Given the description of an element on the screen output the (x, y) to click on. 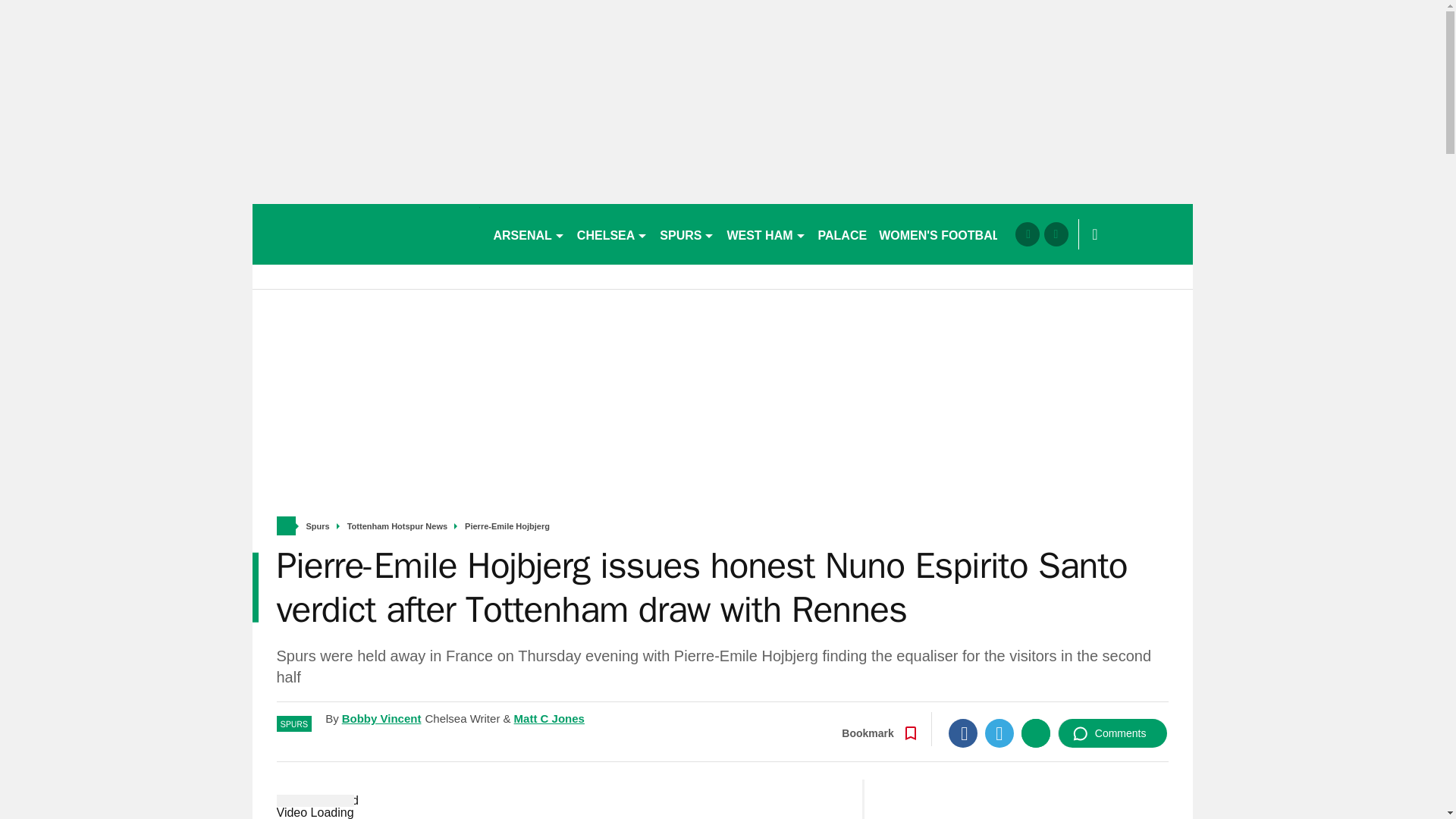
Comments (1112, 733)
ARSENAL (528, 233)
PALACE (842, 233)
SPURS (686, 233)
Twitter (999, 733)
footballlondon (365, 233)
WEST HAM (765, 233)
facebook (1026, 233)
WOMEN'S FOOTBALL (942, 233)
CHELSEA (611, 233)
twitter (1055, 233)
Facebook (962, 733)
